Given the description of an element on the screen output the (x, y) to click on. 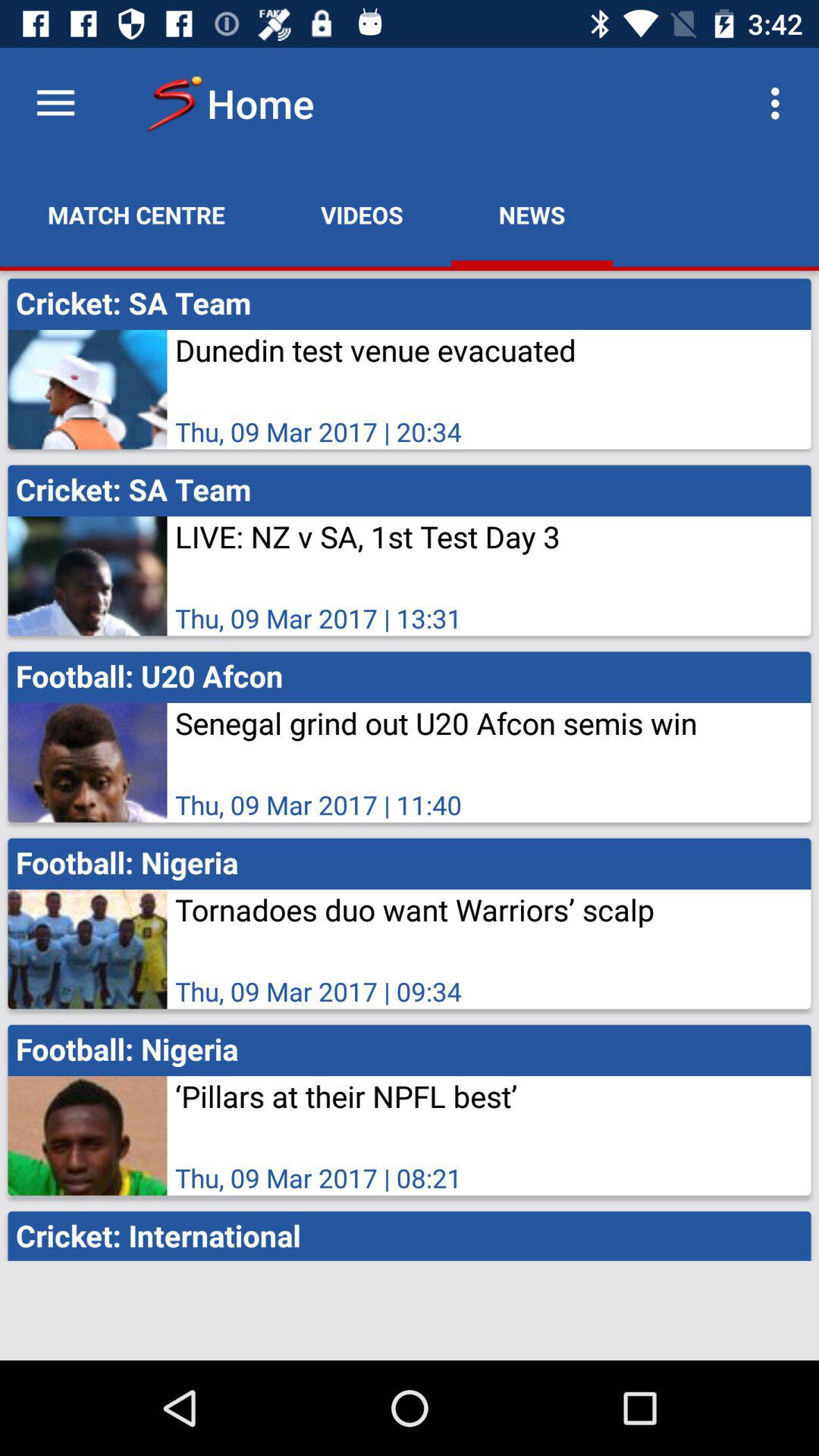
open item to the left of videos item (136, 214)
